Given the description of an element on the screen output the (x, y) to click on. 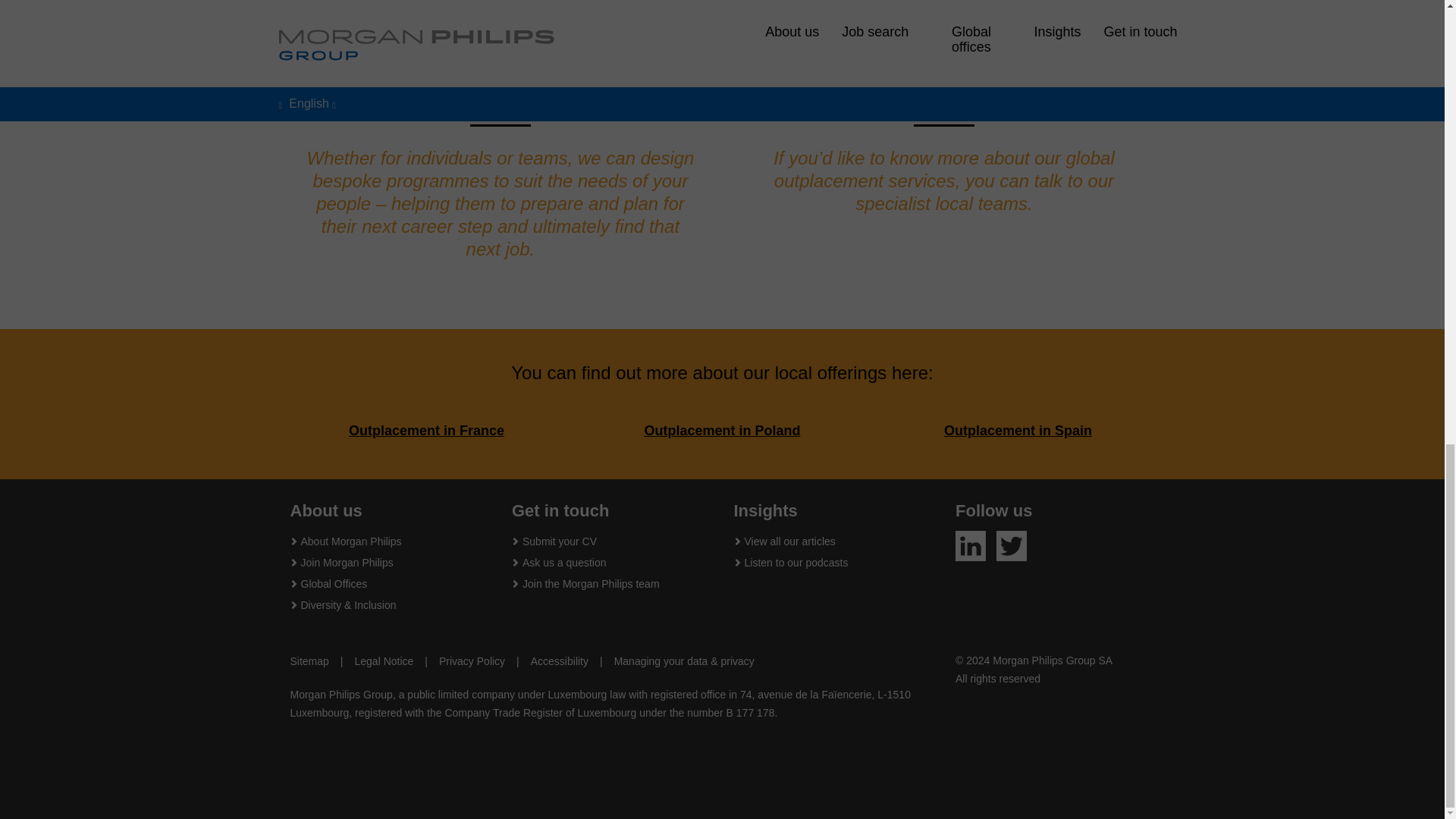
Outplacement in France (426, 430)
About Morgan Philips (350, 541)
Outplacement in Poland (721, 430)
Join Morgan Philips (346, 562)
Outplacement in Spain (1017, 430)
